Given the description of an element on the screen output the (x, y) to click on. 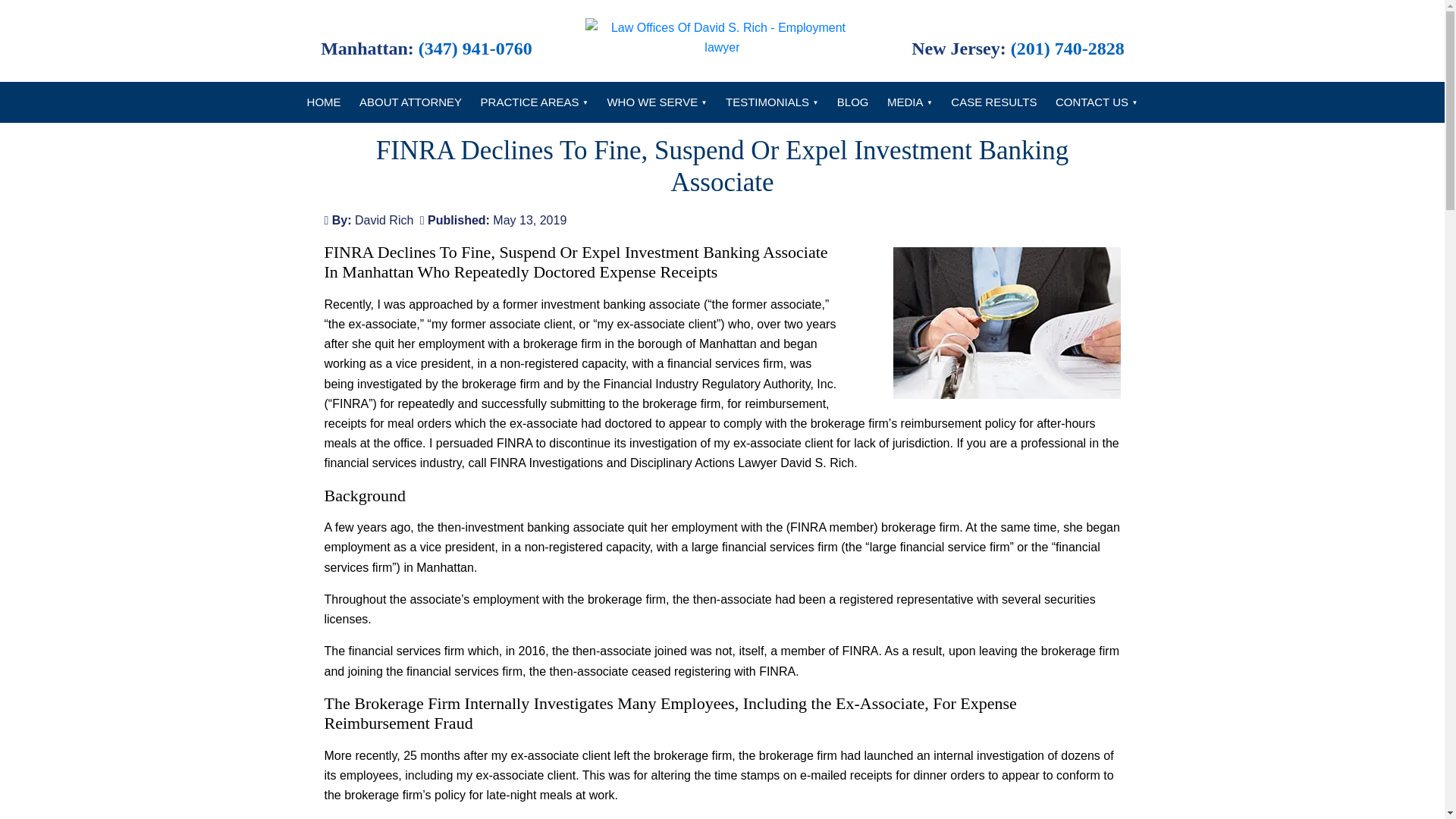
CONTACT US (1096, 101)
ABOUT ATTORNEY (410, 101)
MEDIA (909, 101)
PRACTICE AREAS (534, 101)
WHO WE SERVE (656, 101)
BLOG (852, 101)
TESTIMONIALS (771, 101)
HOME (324, 101)
CASE RESULTS (993, 101)
